Given the description of an element on the screen output the (x, y) to click on. 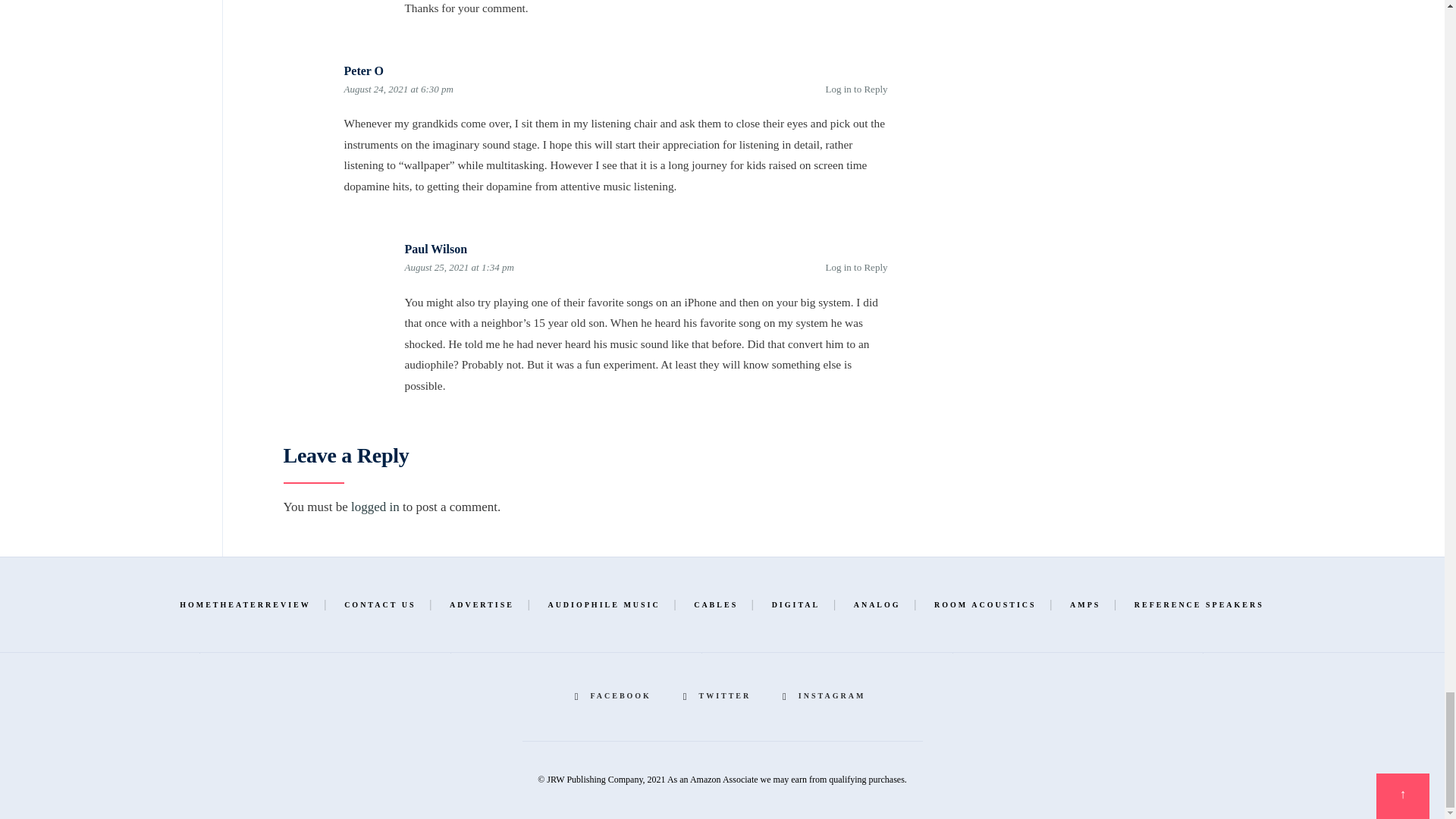
Twitter (719, 695)
Instagram (826, 695)
Facebook (615, 695)
